Given the description of an element on the screen output the (x, y) to click on. 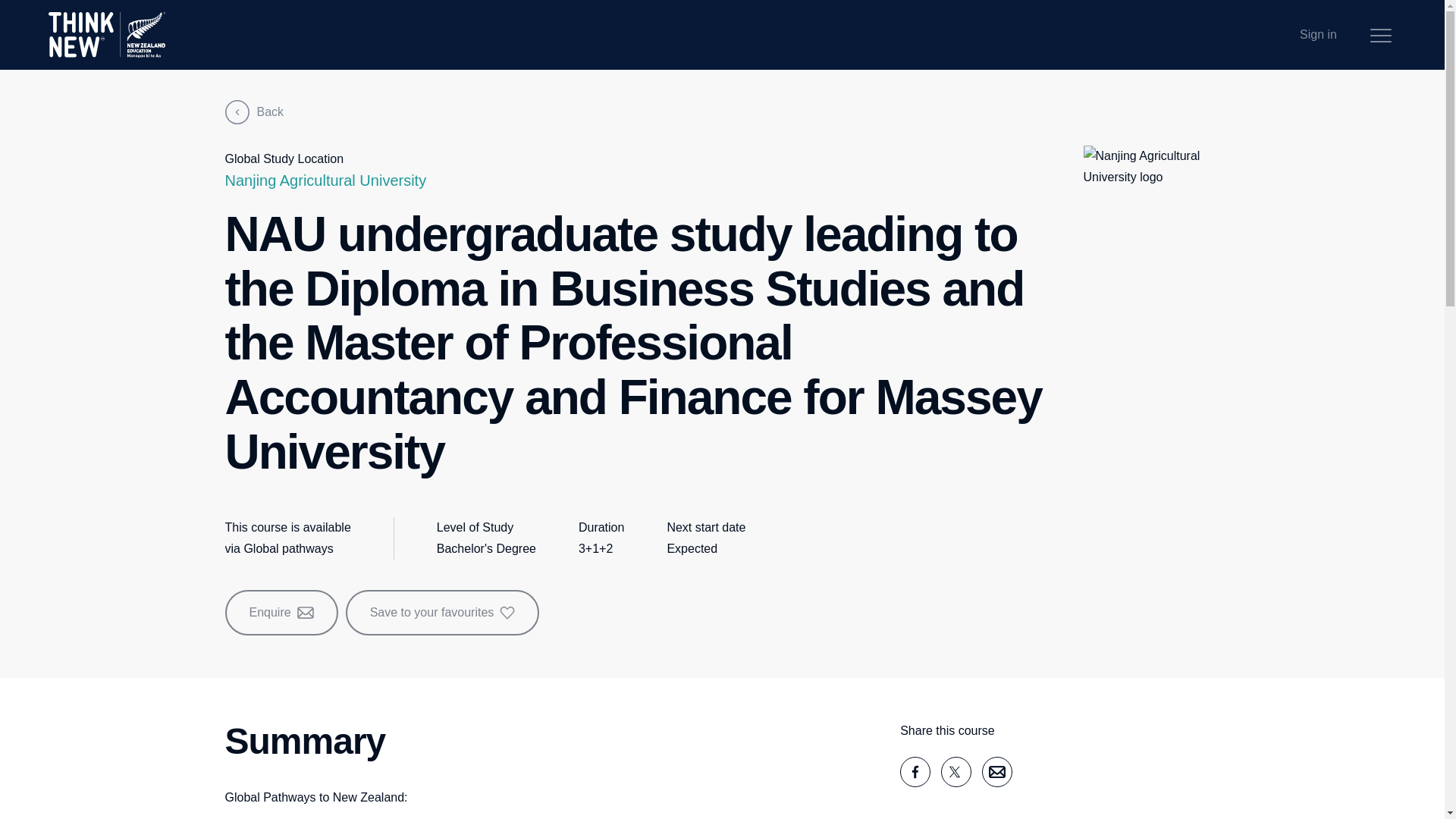
Sign in (1317, 34)
Save to your favourites (443, 612)
New Zealand Education - Think New Logo (106, 34)
New Zealand Education - Think New Logo (106, 34)
Back (253, 111)
Nanjing Agricultural University (325, 180)
Enquire (280, 612)
